Given the description of an element on the screen output the (x, y) to click on. 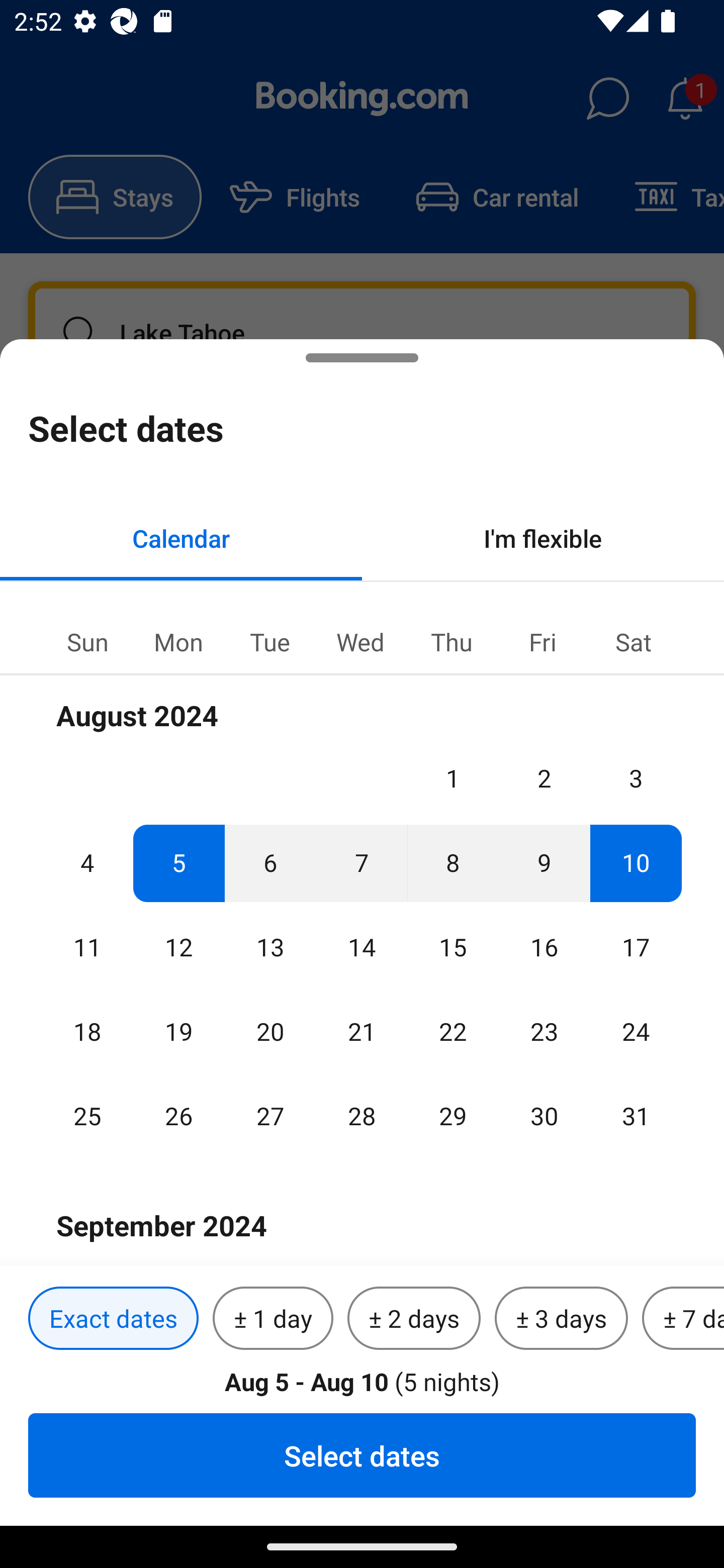
I'm flexible (543, 537)
Exact dates (113, 1318)
± 1 day (272, 1318)
± 2 days (413, 1318)
± 3 days (560, 1318)
± 7 days (683, 1318)
Select dates (361, 1454)
